Given the description of an element on the screen output the (x, y) to click on. 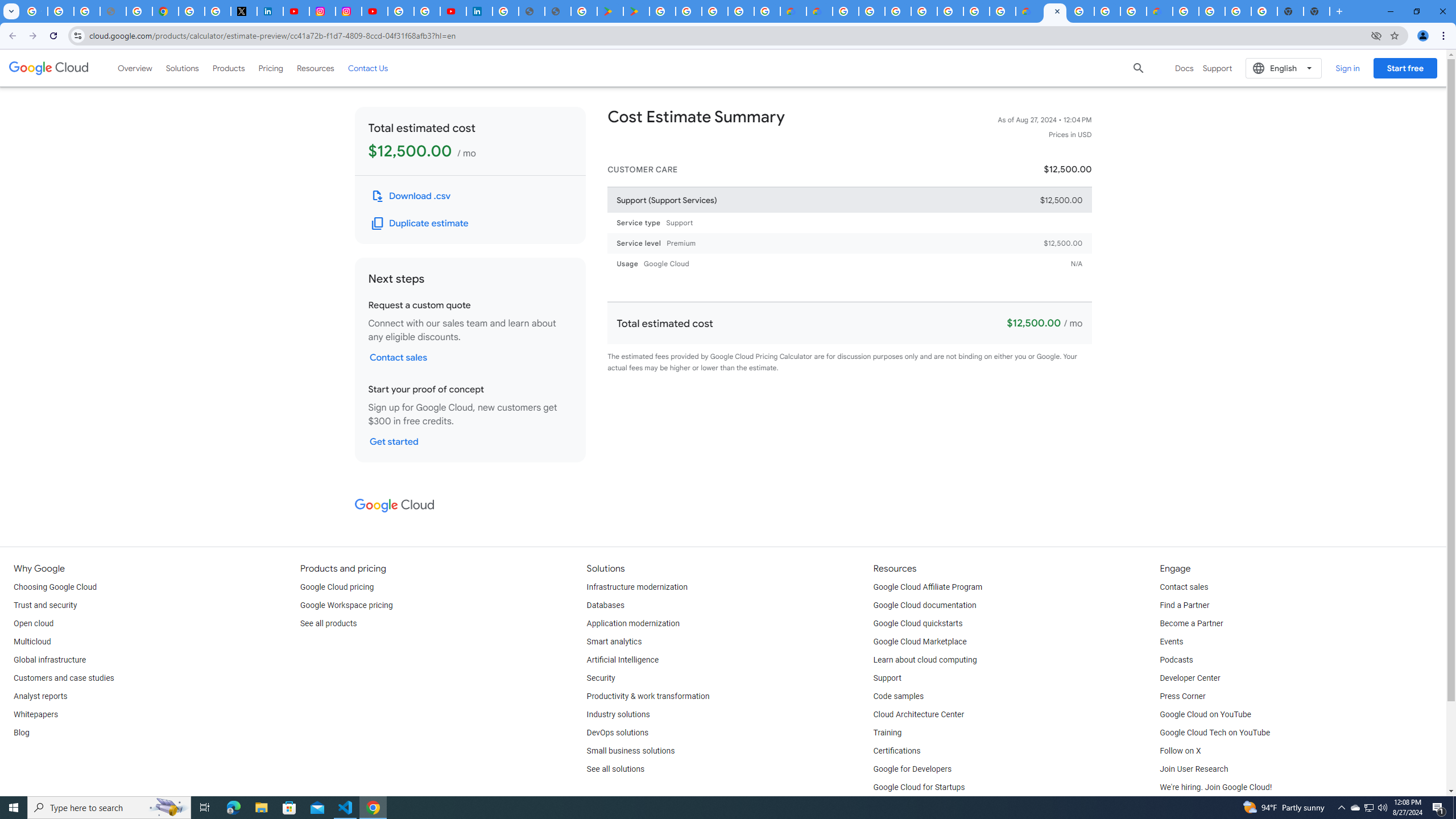
Sign in - Google Accounts (897, 11)
Google Workspace - Specific Terms (740, 11)
Industry solutions (617, 714)
Google Cloud Service Health (1159, 11)
Infrastructure modernization (637, 587)
support.google.com - Network error (112, 11)
PAW Patrol Rescue World - Apps on Google Play (636, 11)
Google Cloud quickstarts (917, 624)
Google Cloud documentation (924, 605)
